Given the description of an element on the screen output the (x, y) to click on. 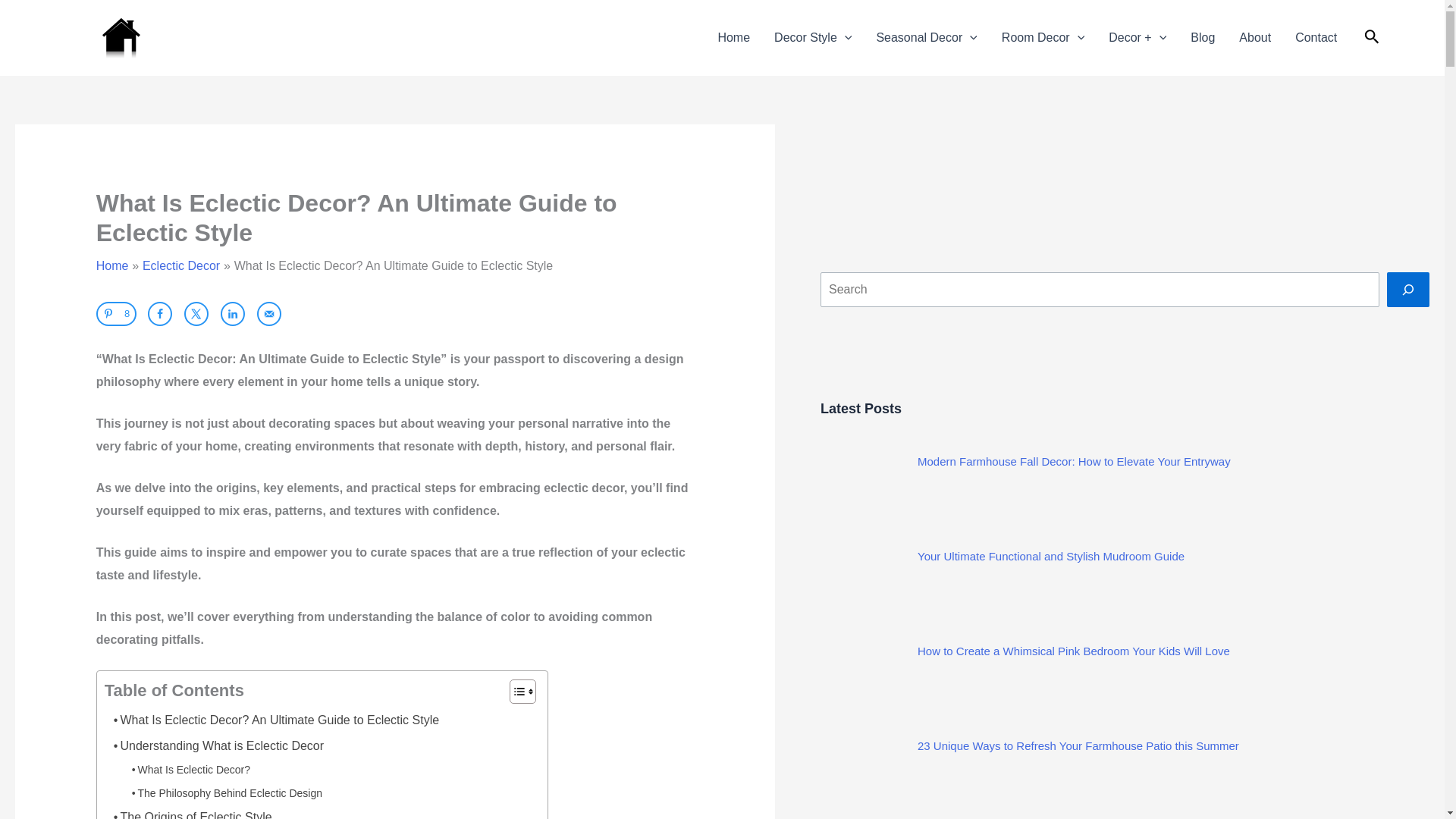
Seasonal Decor (925, 38)
What Is Eclectic Decor? An Ultimate Guide to Eclectic Style (271, 717)
Send over email (269, 313)
What Is Eclectic Decor? (186, 766)
The Philosophy Behind Eclectic Design (221, 789)
Share on Facebook (159, 313)
Share on LinkedIn (232, 313)
Save to Pinterest (116, 313)
Understanding What is Eclectic Decor (213, 742)
Decor Style (812, 38)
Share on X (196, 313)
Room Decor (1043, 38)
The Origins of Eclectic Style (188, 810)
